Given the description of an element on the screen output the (x, y) to click on. 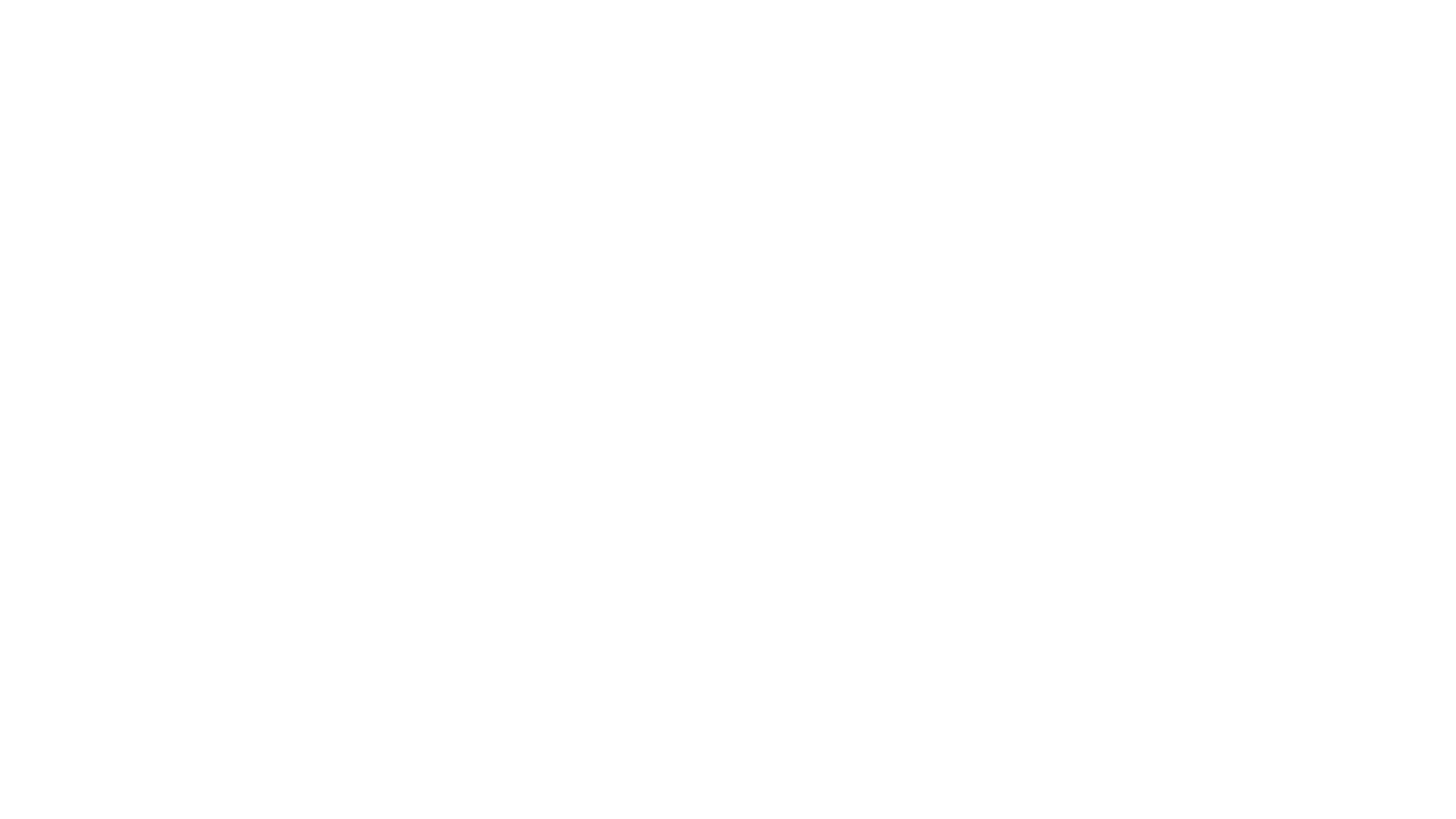
Cloudflare Element type: text (165, 107)
